Given the description of an element on the screen output the (x, y) to click on. 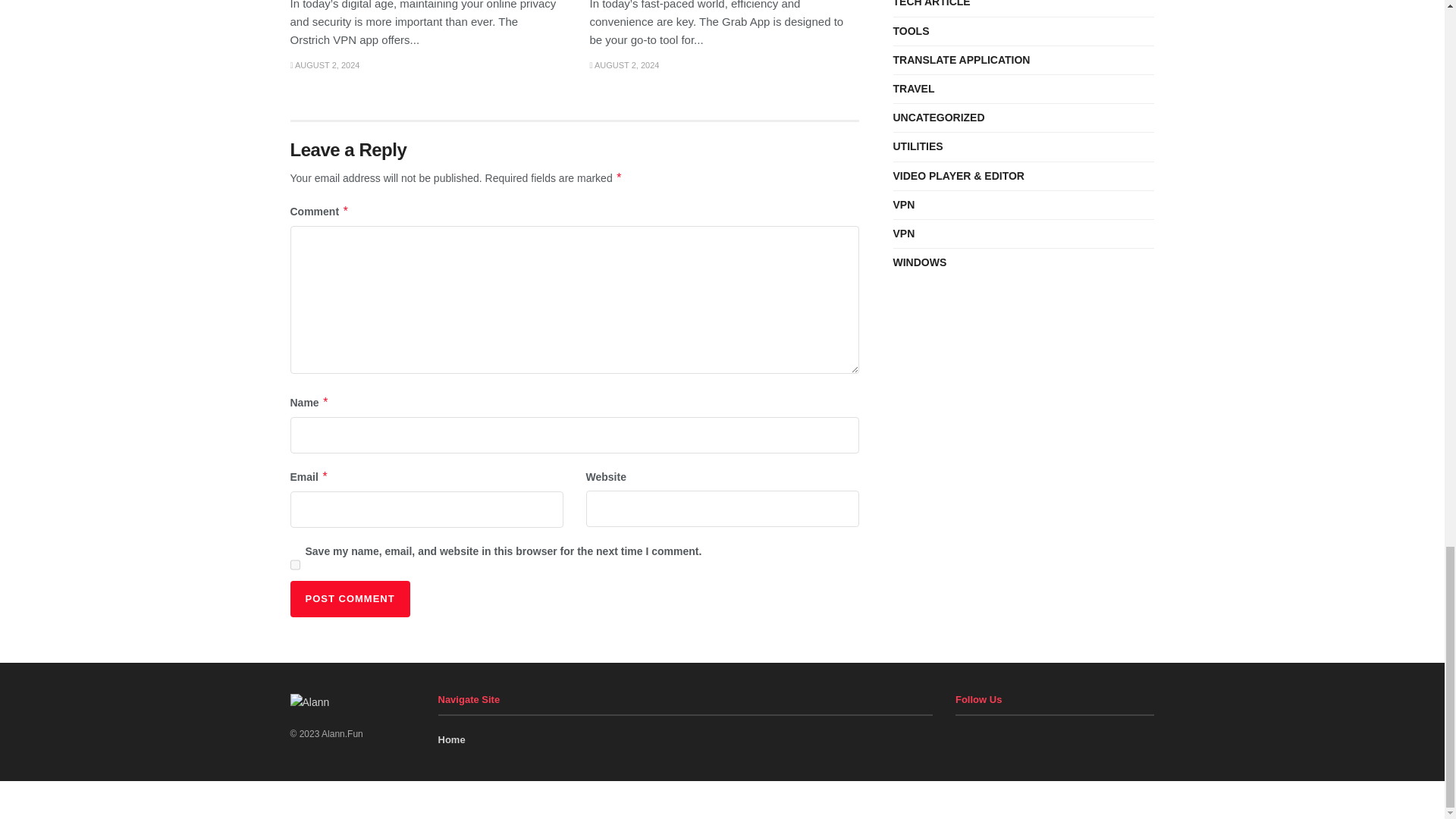
Post Comment (349, 598)
